Given the description of an element on the screen output the (x, y) to click on. 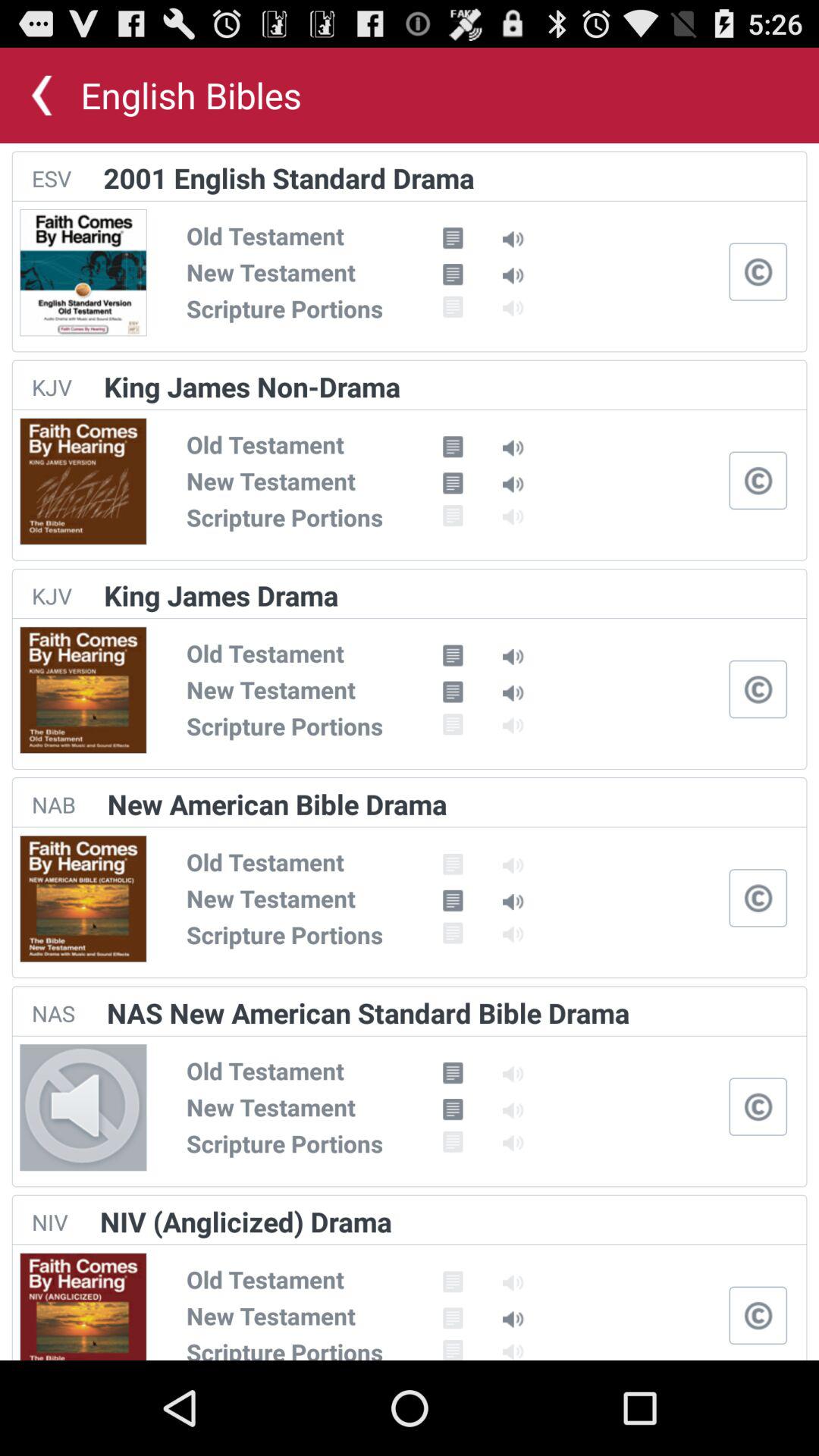
launch the app to the right of niv item (245, 1221)
